Given the description of an element on the screen output the (x, y) to click on. 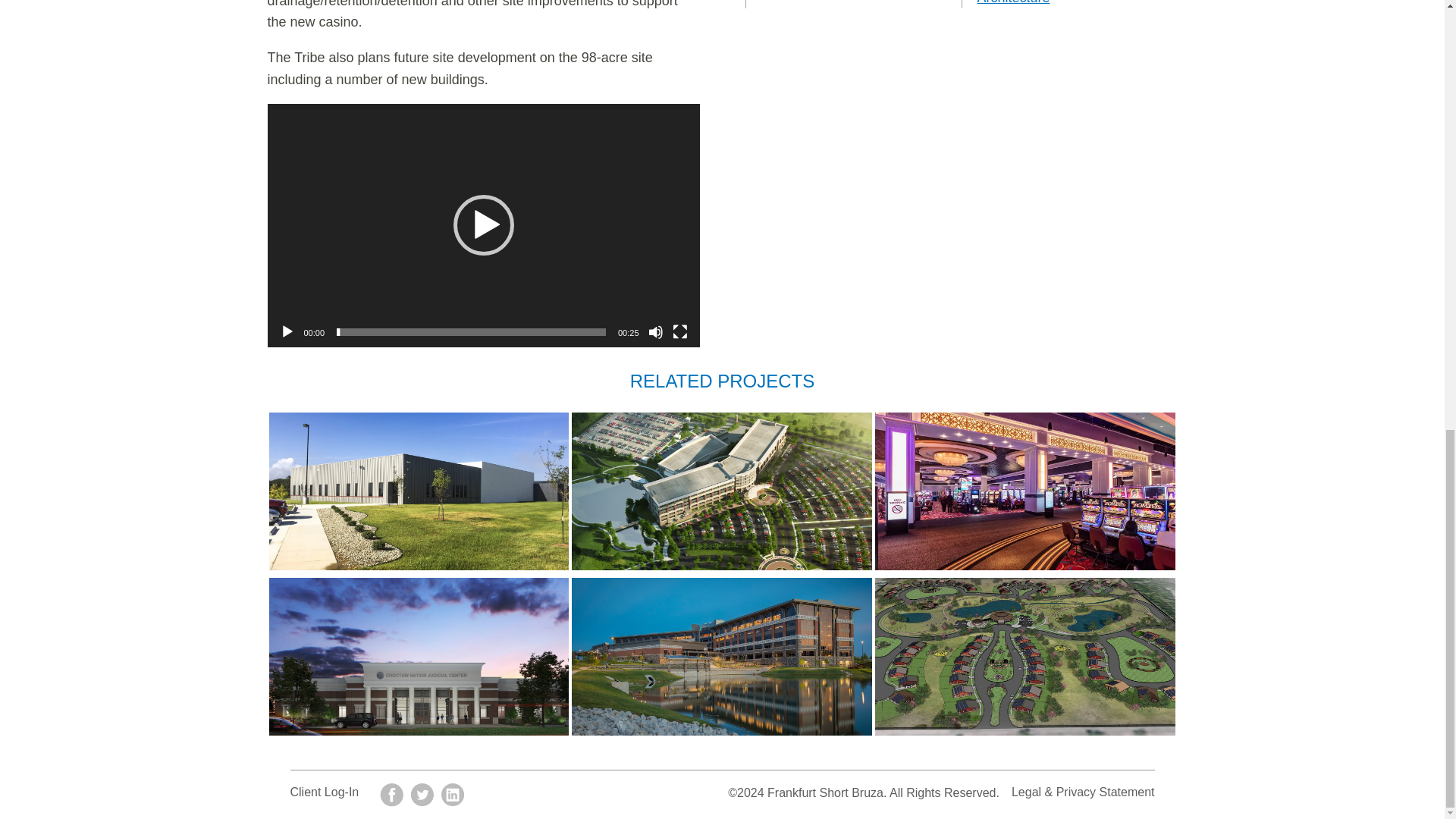
WinStar Global Event Center (1024, 491)
Play (286, 331)
Choctaw Nation Headquarters Master Plan (722, 491)
Choctaw Nation Headquarters Building (722, 656)
Fullscreen (679, 331)
Chickasaw Nation WinStar Data Center (418, 491)
Choctaw Nation Judicial Center (418, 656)
Mute (654, 331)
